Given the description of an element on the screen output the (x, y) to click on. 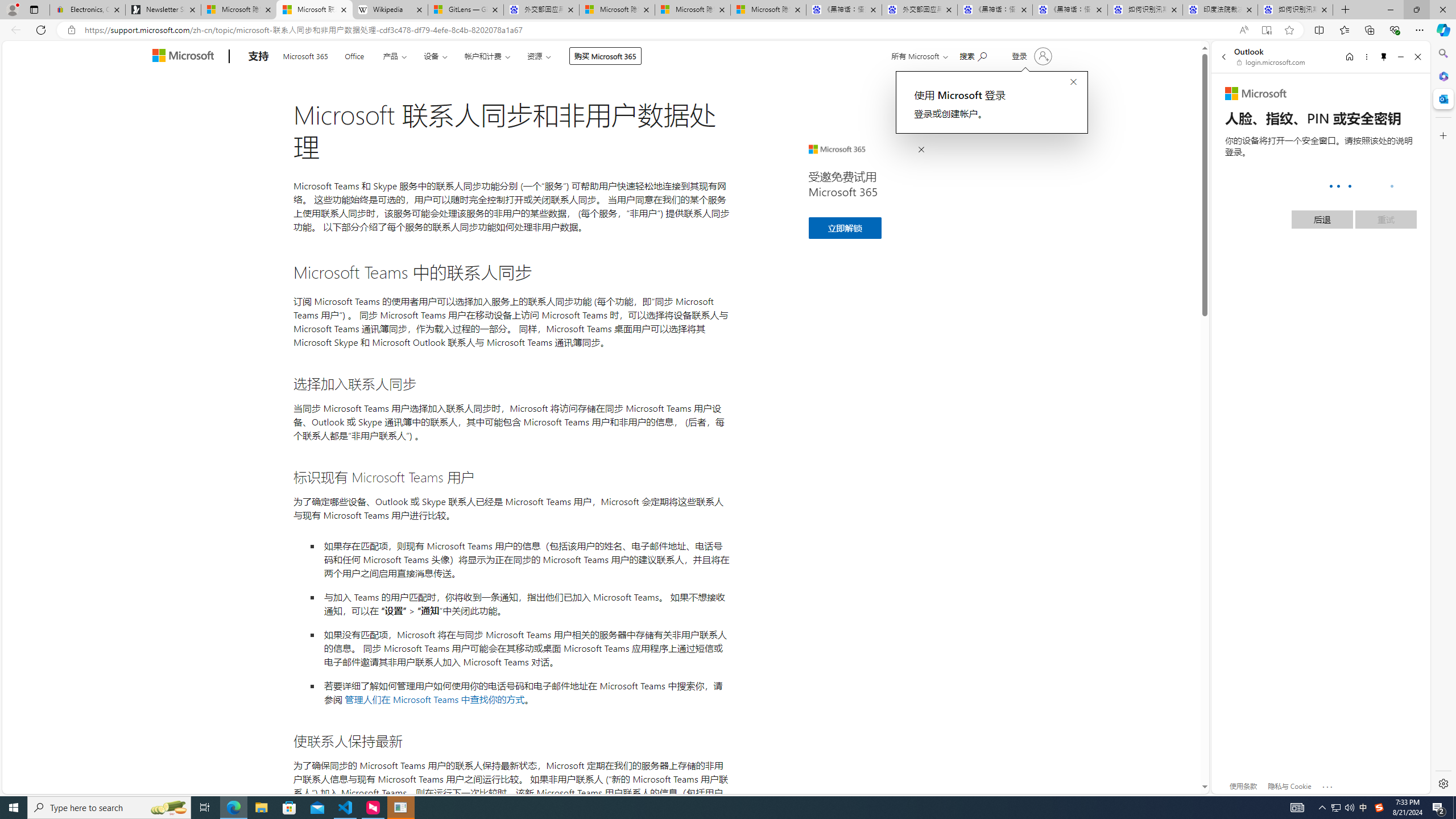
Office (354, 54)
Wikipedia (389, 9)
